Given the description of an element on the screen output the (x, y) to click on. 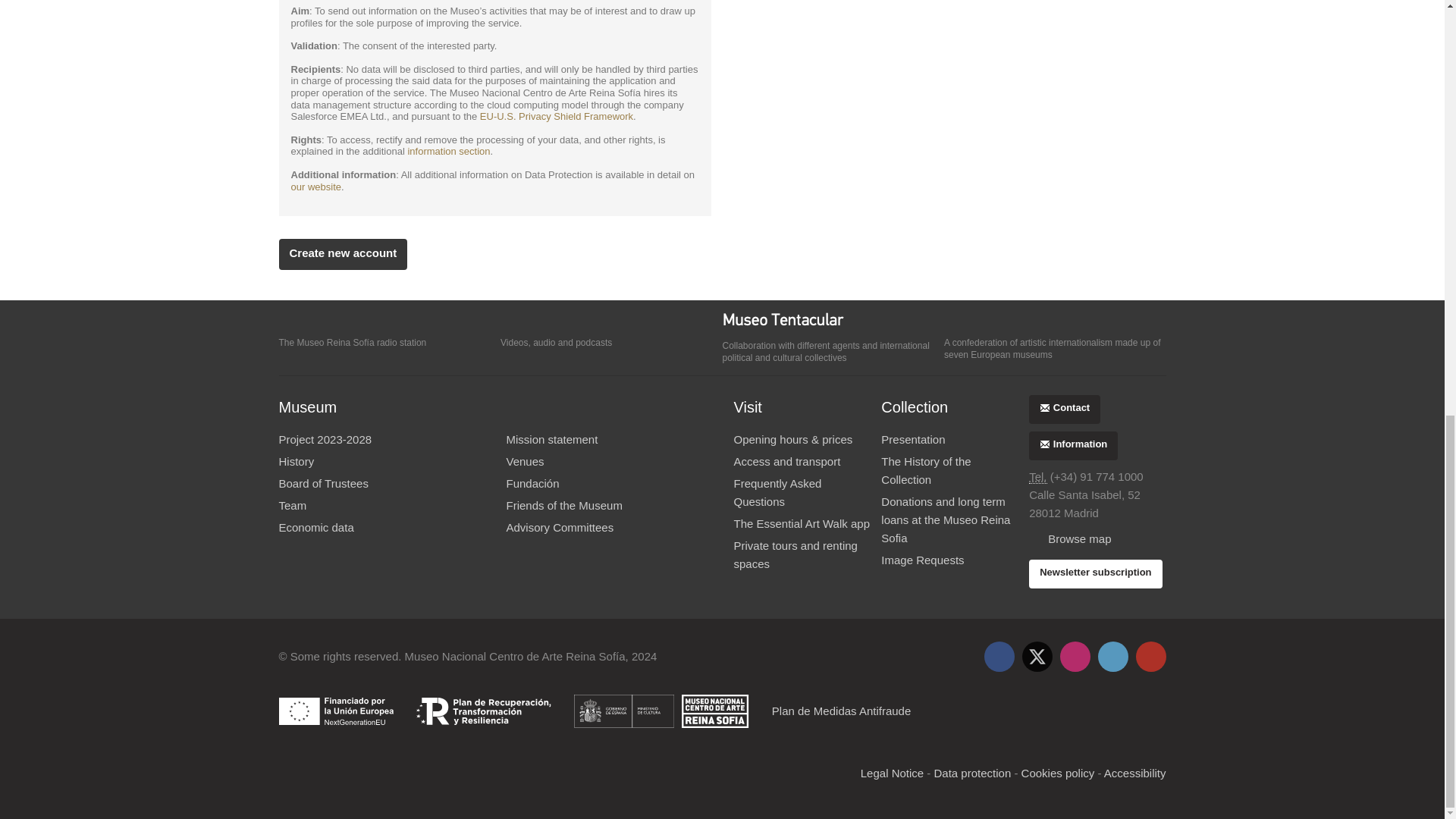
Multimedia (611, 322)
Advisory Committees (607, 527)
Create new account (343, 254)
Visit (747, 406)
Team (381, 505)
Mission statement (607, 439)
EU-U.S. Privacy Shield Framework (556, 116)
Presentation (948, 439)
Museum (308, 406)
The History of the Collection (948, 470)
